Given the description of an element on the screen output the (x, y) to click on. 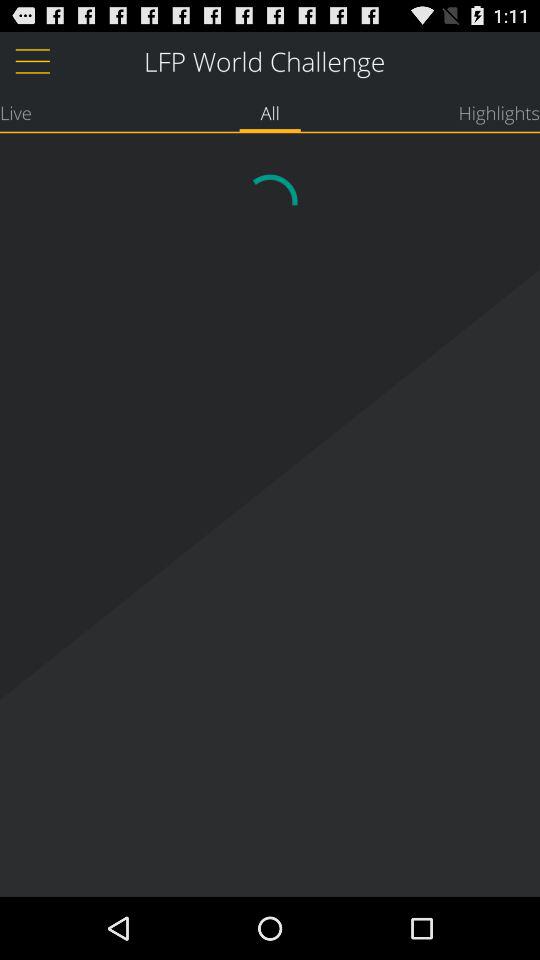
open the icon at the top right corner (499, 112)
